Given the description of an element on the screen output the (x, y) to click on. 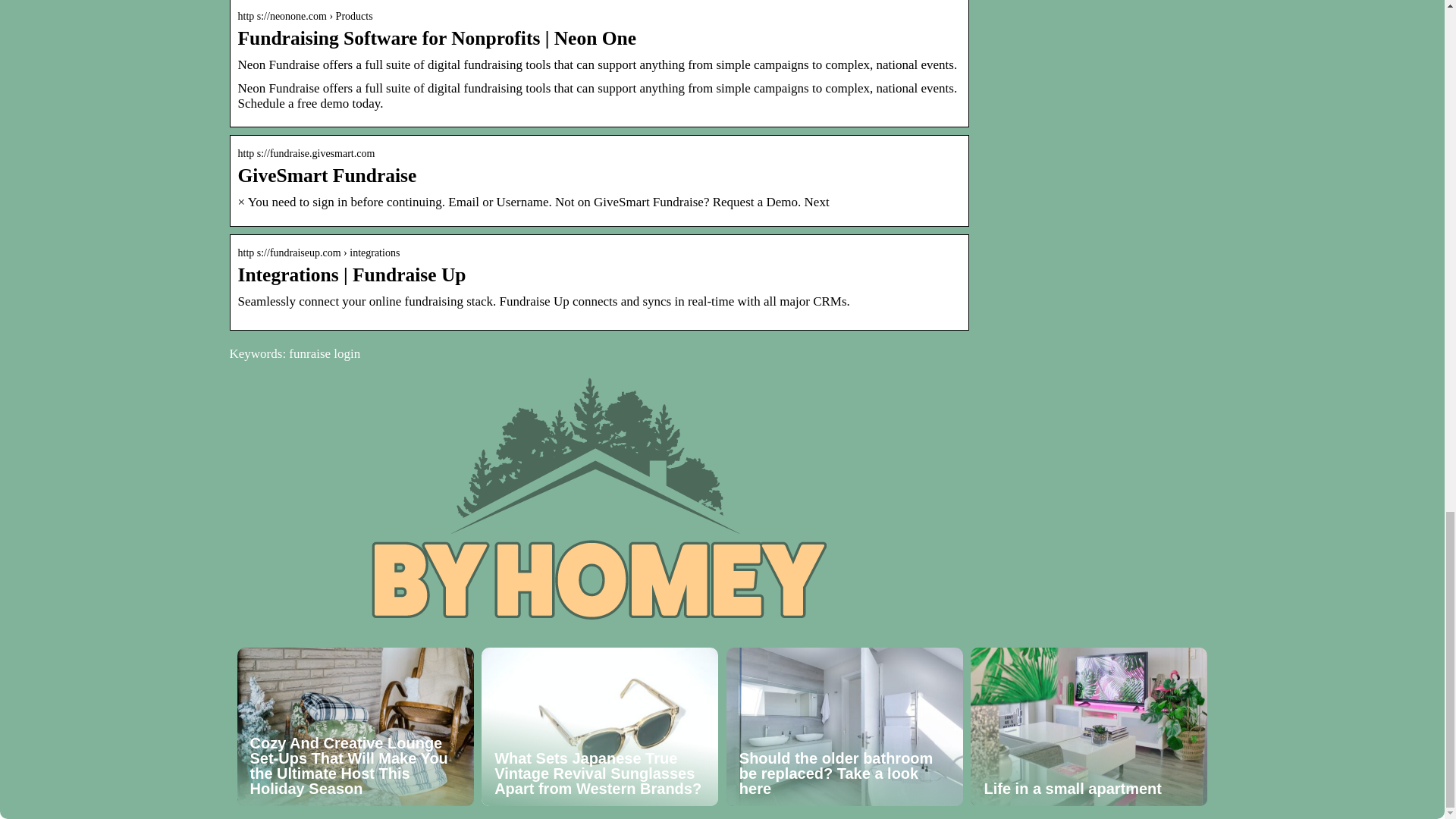
Life in a small apartment (1089, 726)
Should the older bathroom be replaced? Take a look here (844, 726)
